Given the description of an element on the screen output the (x, y) to click on. 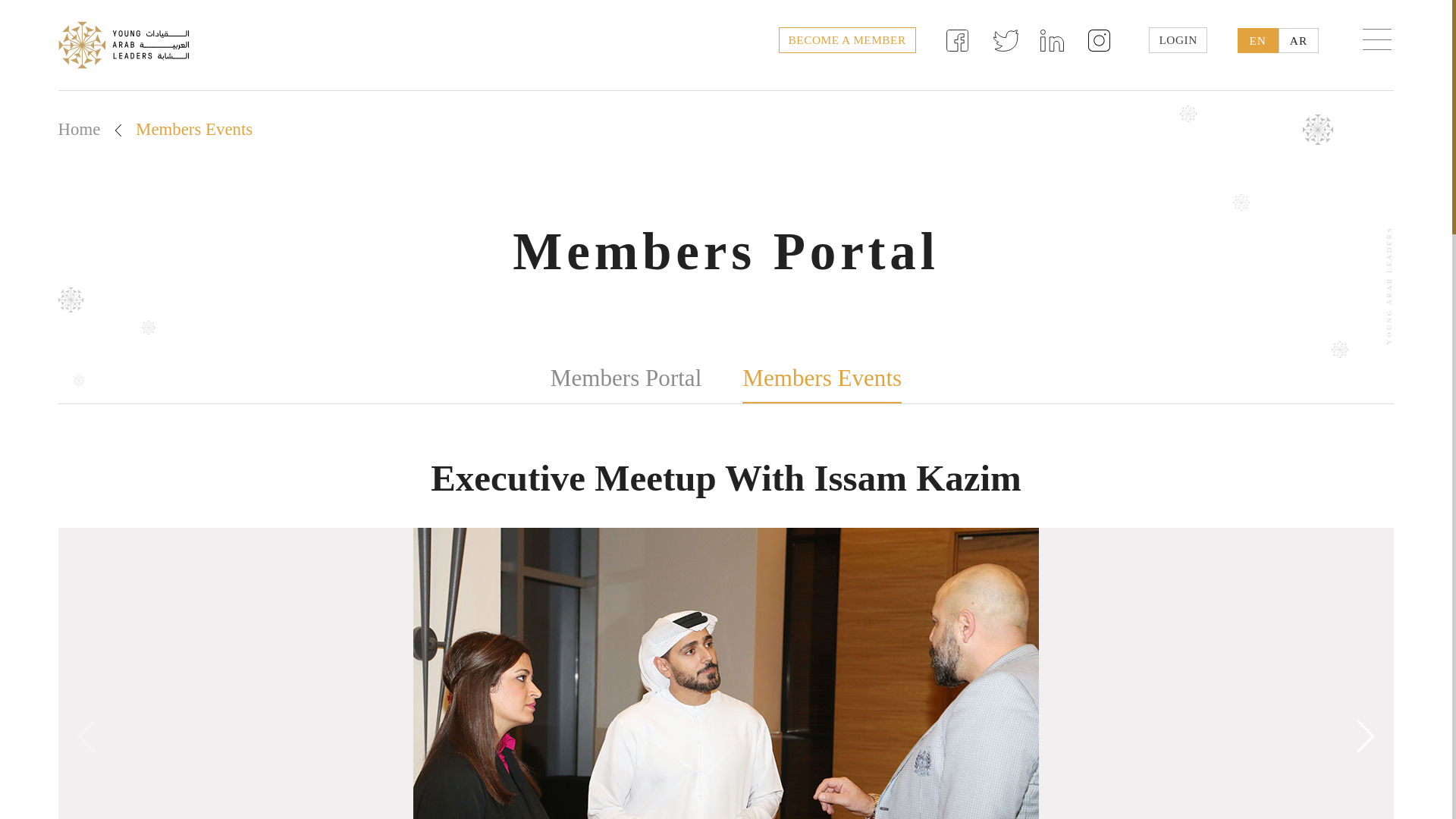
BECOME A MEMBER (846, 39)
AR (1298, 40)
EN (1257, 40)
Members Events (193, 128)
Home (79, 128)
Members Portal (625, 377)
LOGIN (1177, 39)
Members Events (821, 378)
